Given the description of an element on the screen output the (x, y) to click on. 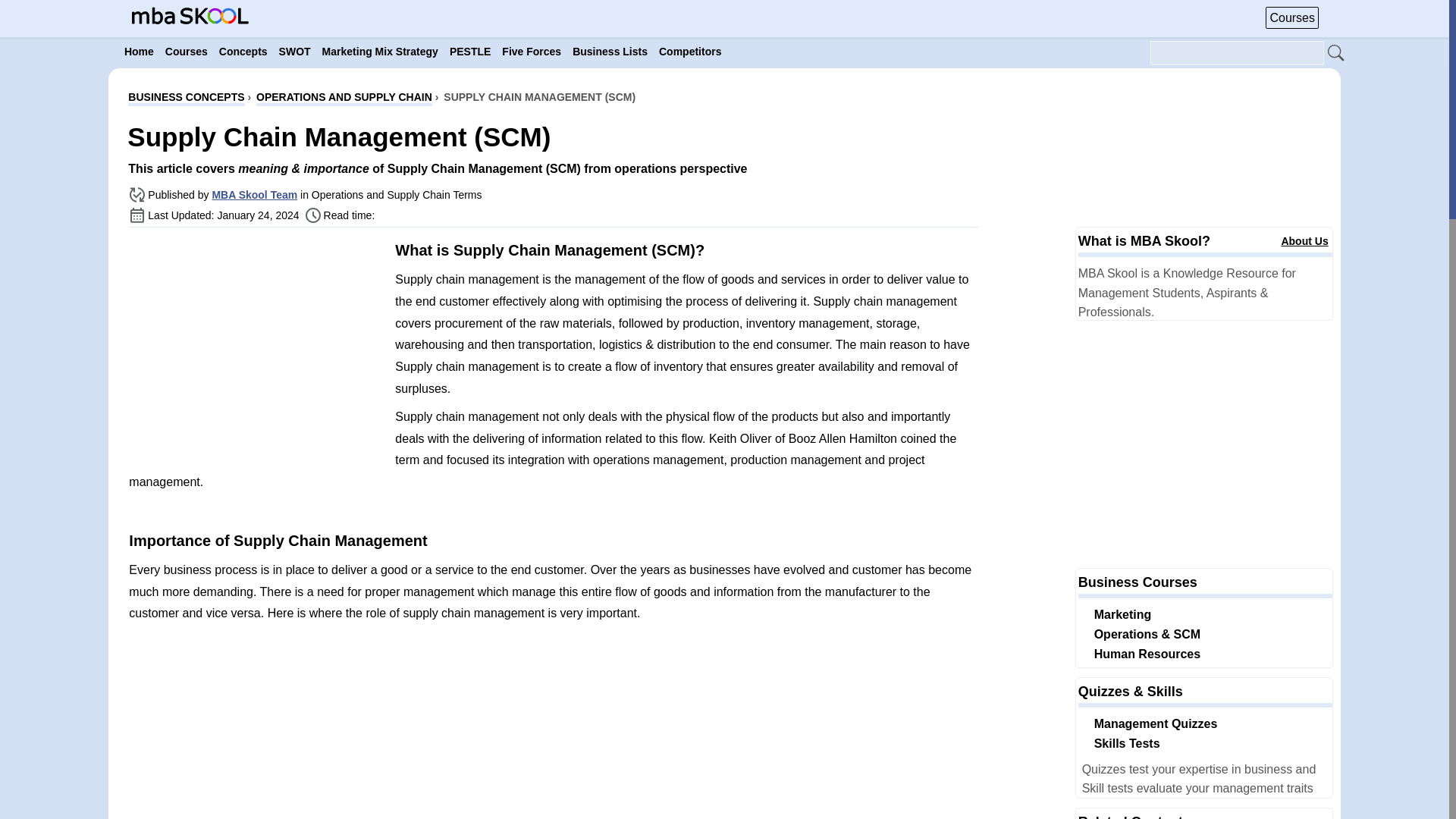
Competitors (689, 52)
Courses (186, 52)
Concepts (242, 52)
Business Lists (609, 52)
Marketing (1122, 614)
SWOT (295, 52)
BUSINESS CONCEPTS (186, 98)
MBA Skool (189, 19)
Search (1336, 54)
MBA Skool (189, 15)
About Us (1304, 241)
MBA Skool Team (254, 194)
Marketing Mix Strategy (379, 52)
Home (138, 52)
PESTLE (469, 52)
